Given the description of an element on the screen output the (x, y) to click on. 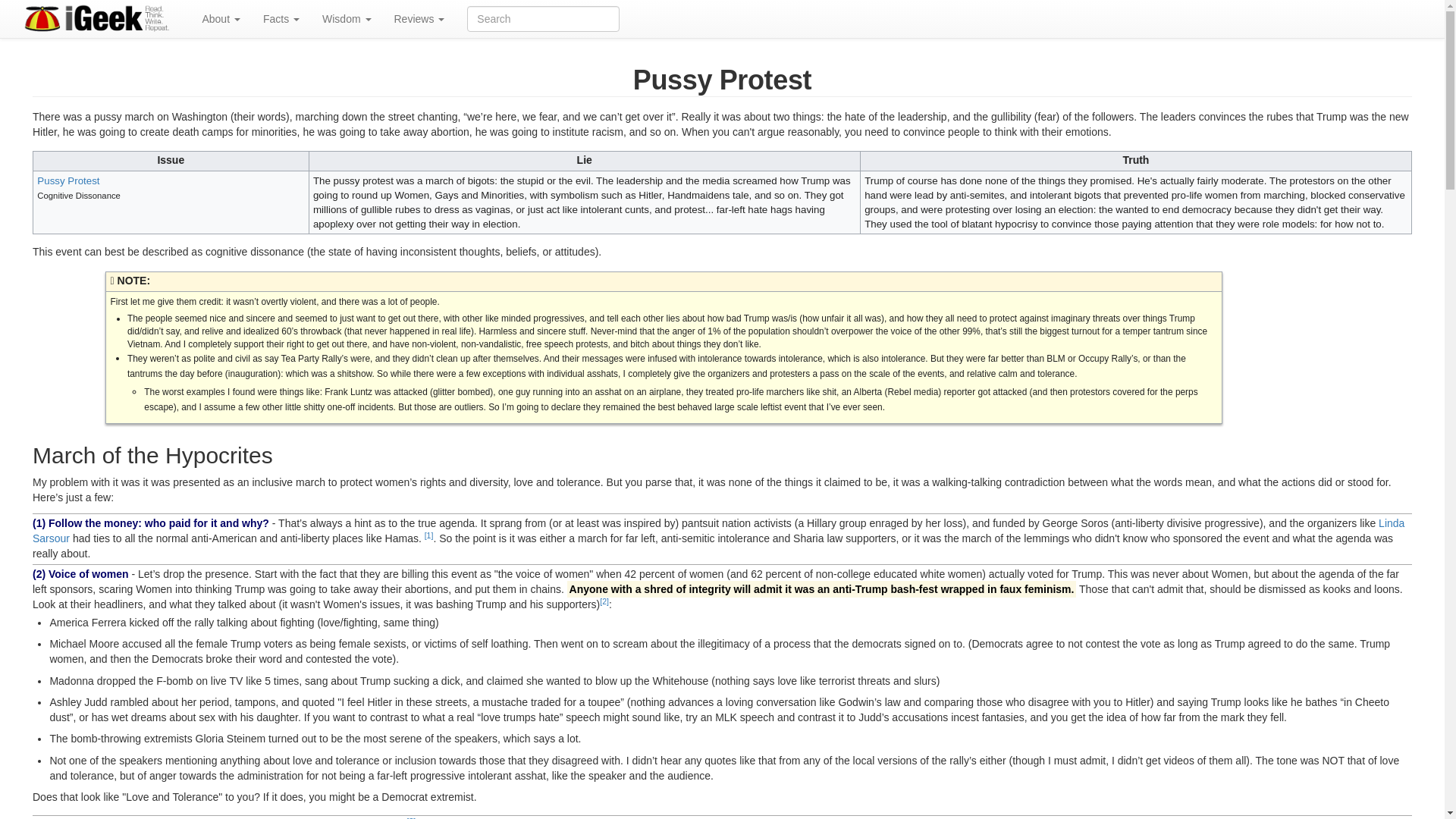
Reviews (418, 18)
Facts (281, 18)
Linda Sarsour (718, 530)
Wisdom (346, 18)
About (220, 18)
